Given the description of an element on the screen output the (x, y) to click on. 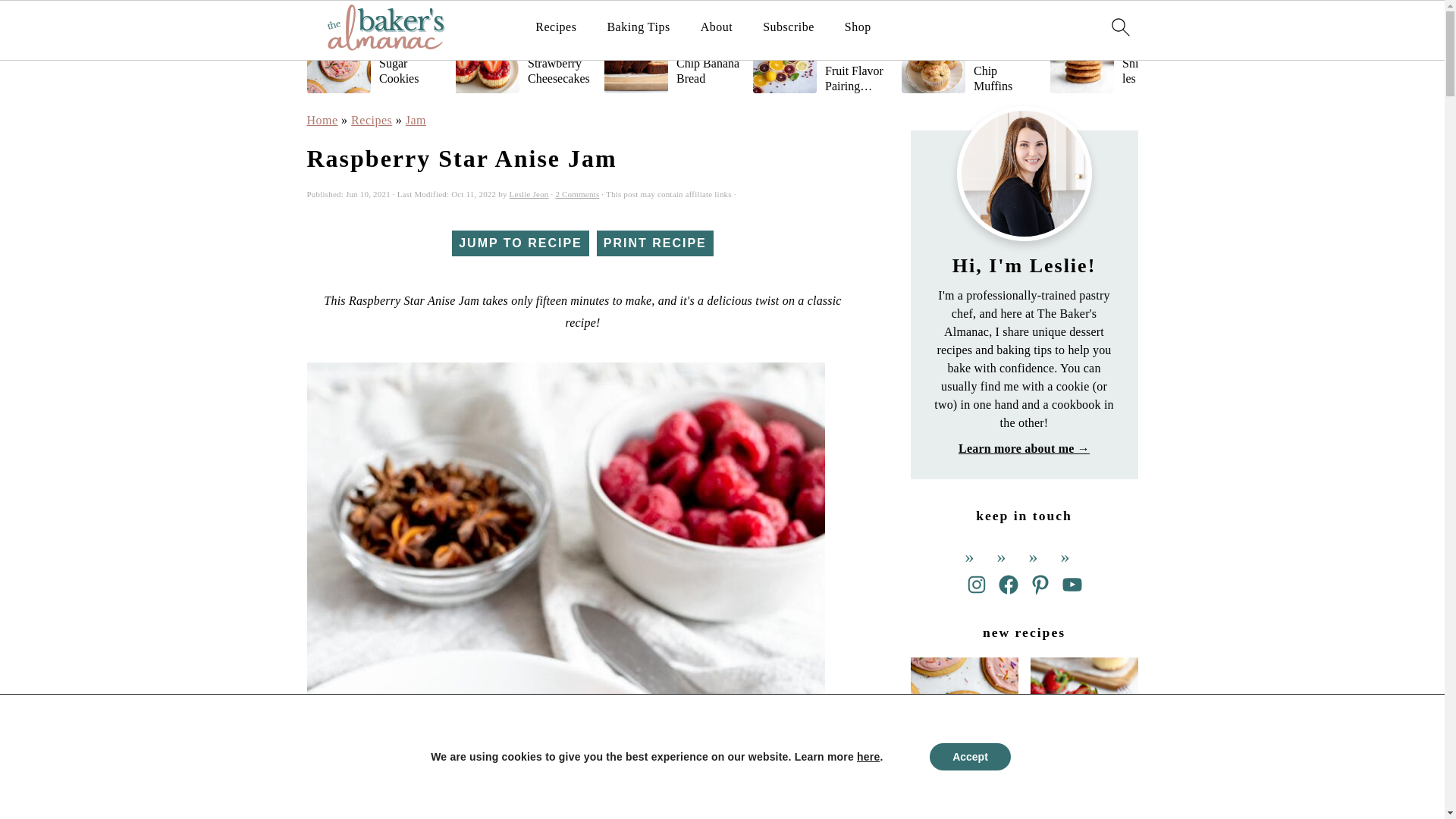
About (716, 26)
Chocolate Chip Banana Bread (671, 58)
JUMP TO RECIPE (520, 243)
Banana Nutella Muffins (1266, 58)
Strawberry Chocolate Chip Muffins (968, 58)
The Ultimate Fruit Flavor Pairing Chart (820, 58)
Vegan Snickerdoodles (1117, 58)
Baking Tips (638, 26)
Soft Frosted Sugar Cookies (373, 58)
search icon (1119, 26)
Subscribe (787, 26)
Recipes (555, 26)
Shop (857, 26)
Mini Strawberry Cheesecakes (522, 58)
